Given the description of an element on the screen output the (x, y) to click on. 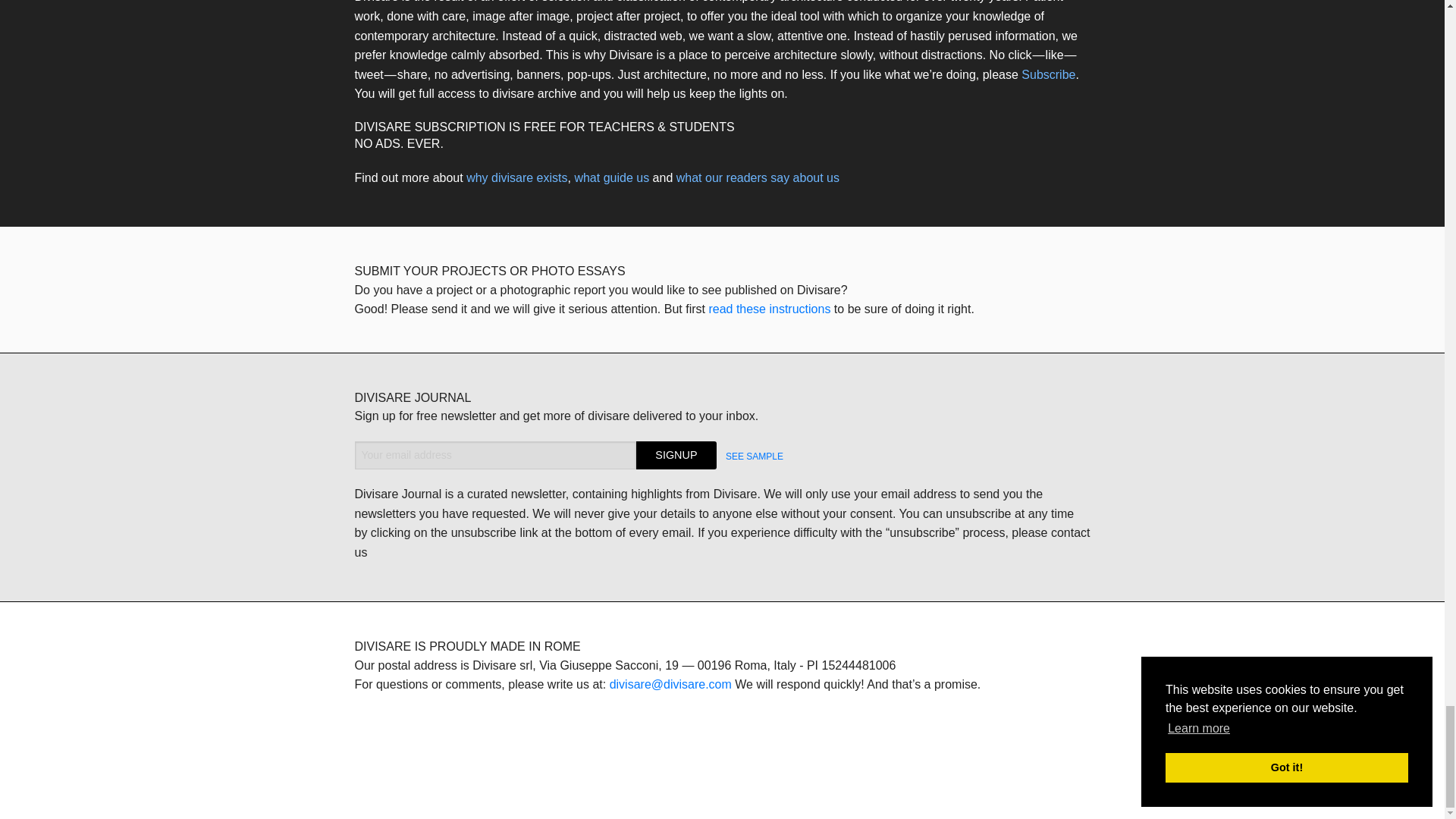
Signup (676, 455)
